Given the description of an element on the screen output the (x, y) to click on. 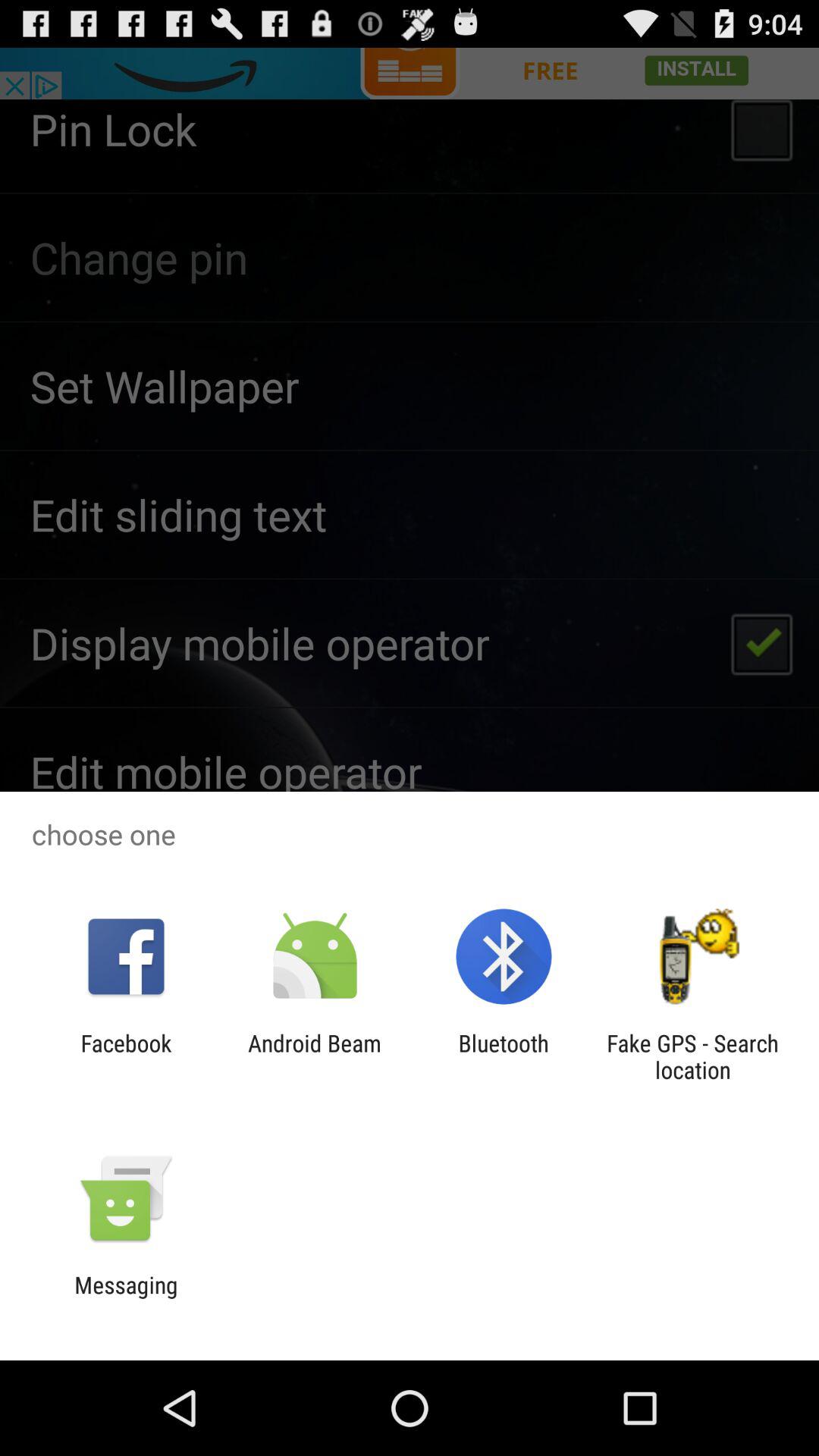
scroll until the android beam item (314, 1056)
